Given the description of an element on the screen output the (x, y) to click on. 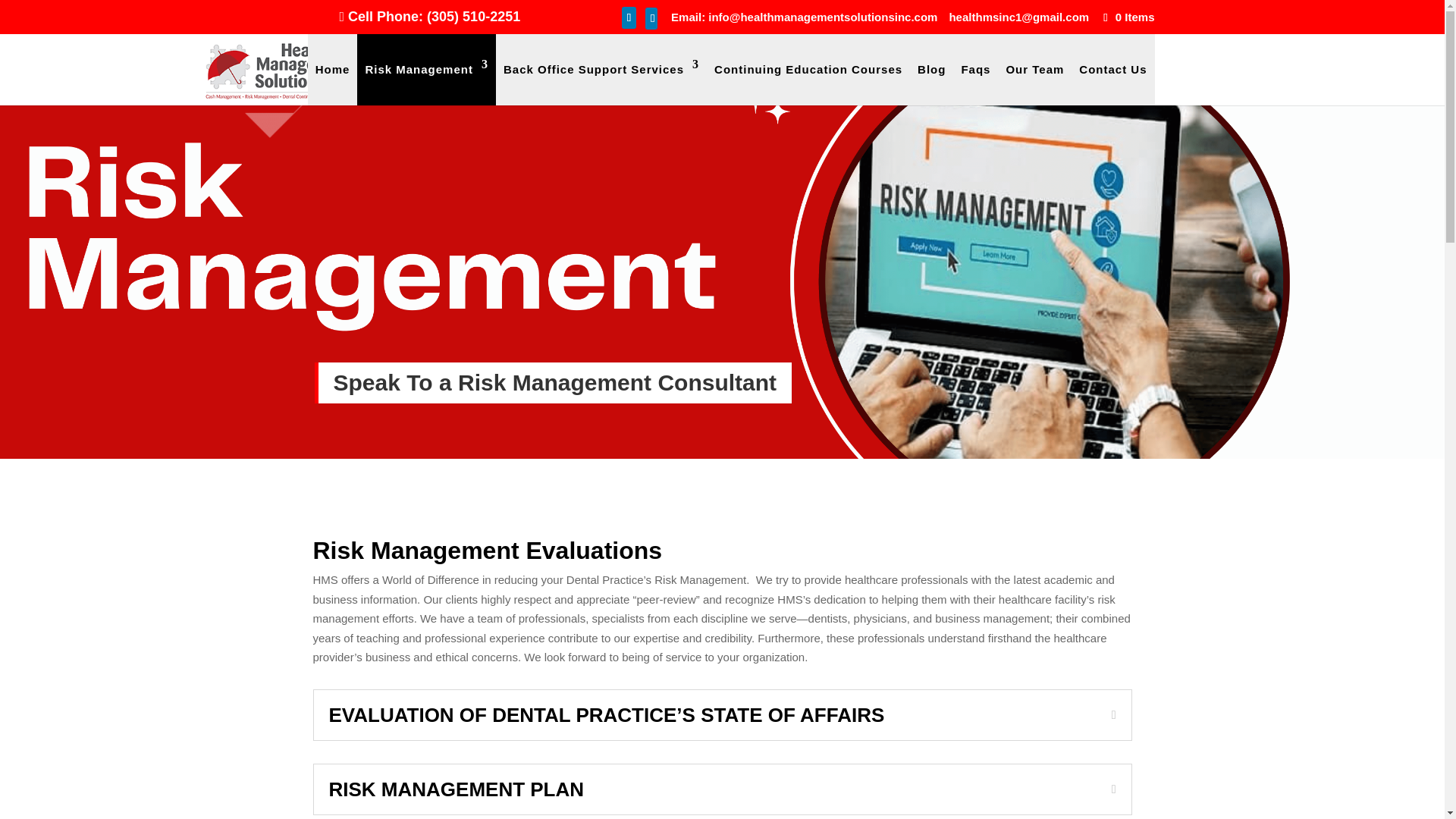
Faqs (975, 69)
Our Team (1035, 69)
Risk Management (426, 69)
Contact Us (1112, 69)
0 Items (1127, 16)
Home (332, 69)
Blog (930, 69)
Continuing Education Courses (808, 69)
Back Office Support Services (600, 69)
